Given the description of an element on the screen output the (x, y) to click on. 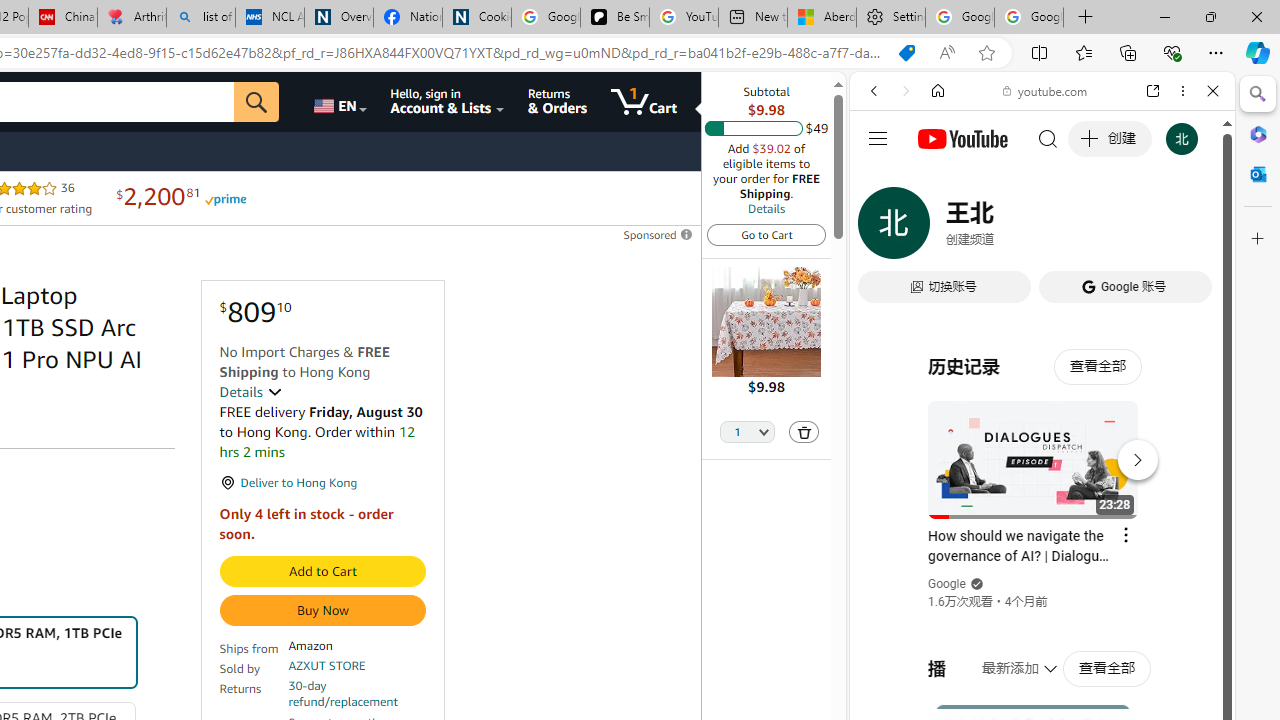
Search (1258, 94)
Split screen (1039, 52)
Be Smart | creating Science videos | Patreon (614, 17)
Close Outlook pane (1258, 174)
WEB   (882, 228)
30-day refund/replacement (357, 693)
Close (1213, 91)
Close Customize pane (1258, 239)
Choose a language for shopping. (339, 101)
Search Filter, WEB (882, 228)
list of asthma inhalers uk - Search (200, 17)
Home (938, 91)
Preferences (1189, 228)
Back (874, 91)
